Given the description of an element on the screen output the (x, y) to click on. 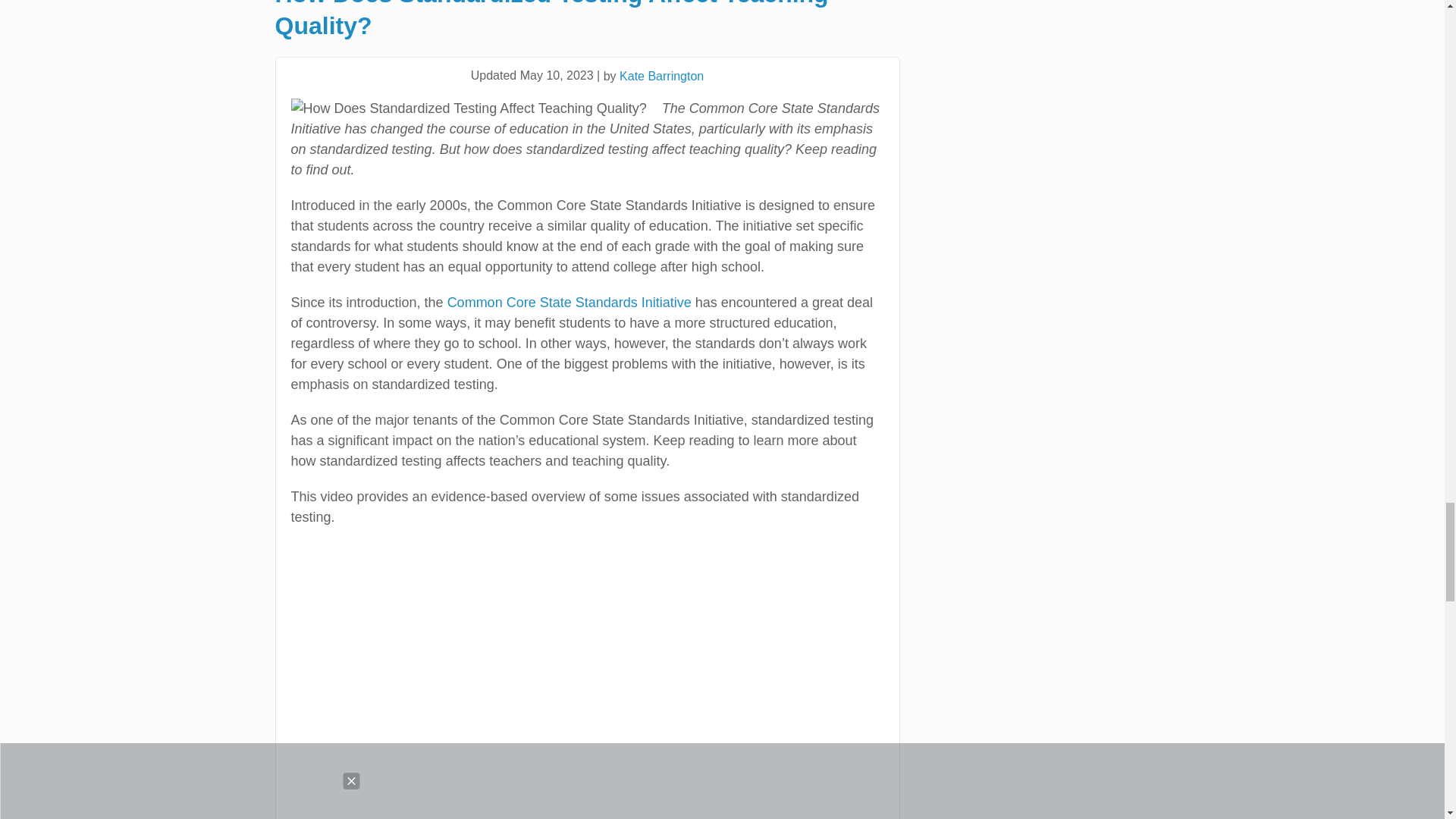
How Does Standardized Testing Affect Teaching Quality?  (468, 108)
Common Core State Standards Initiative (568, 302)
Kate Barrington (661, 75)
How Does Standardized Testing Affect Teaching Quality? (587, 20)
